Given the description of an element on the screen output the (x, y) to click on. 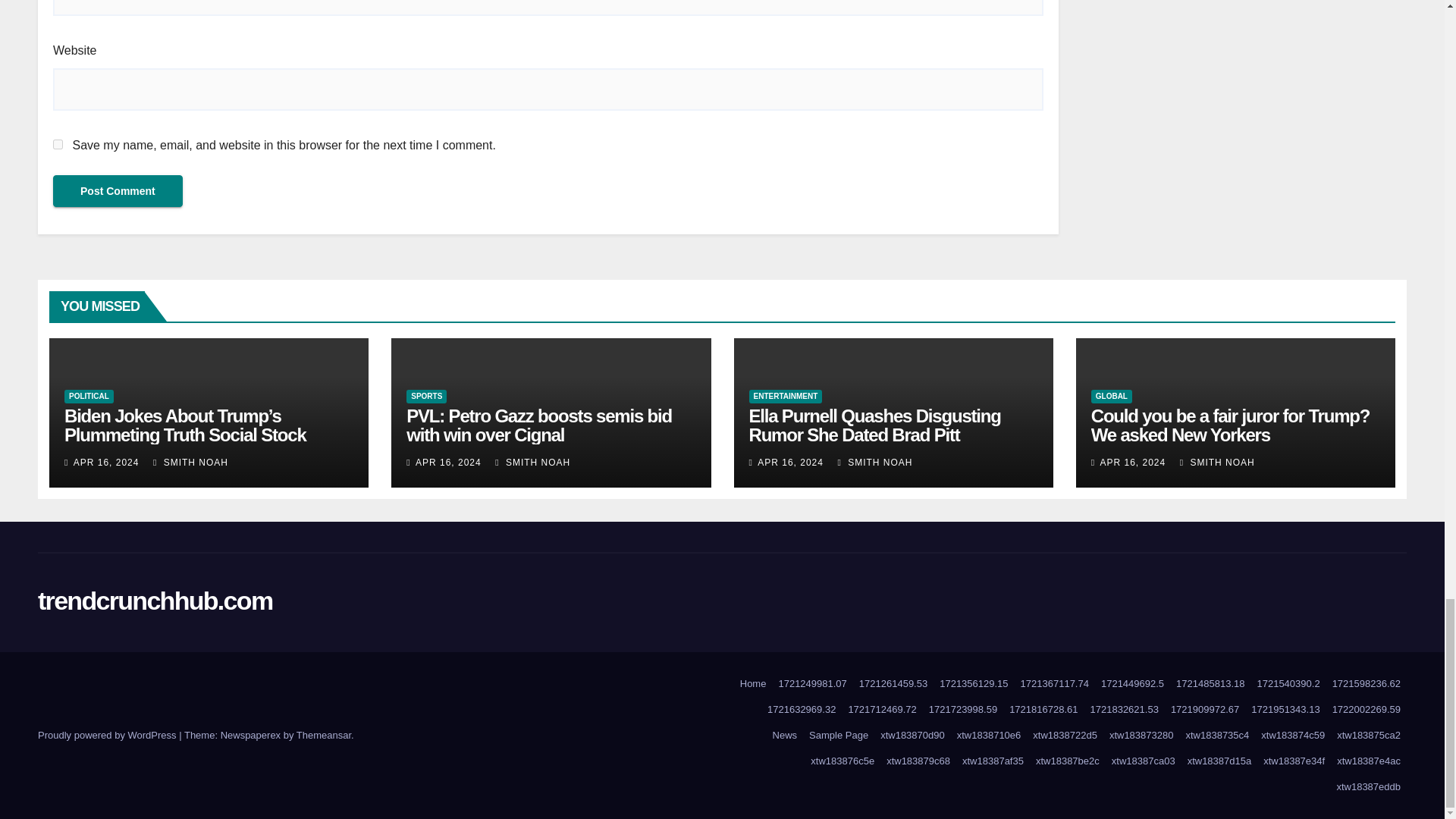
yes (57, 144)
Post Comment (117, 191)
